Given the description of an element on the screen output the (x, y) to click on. 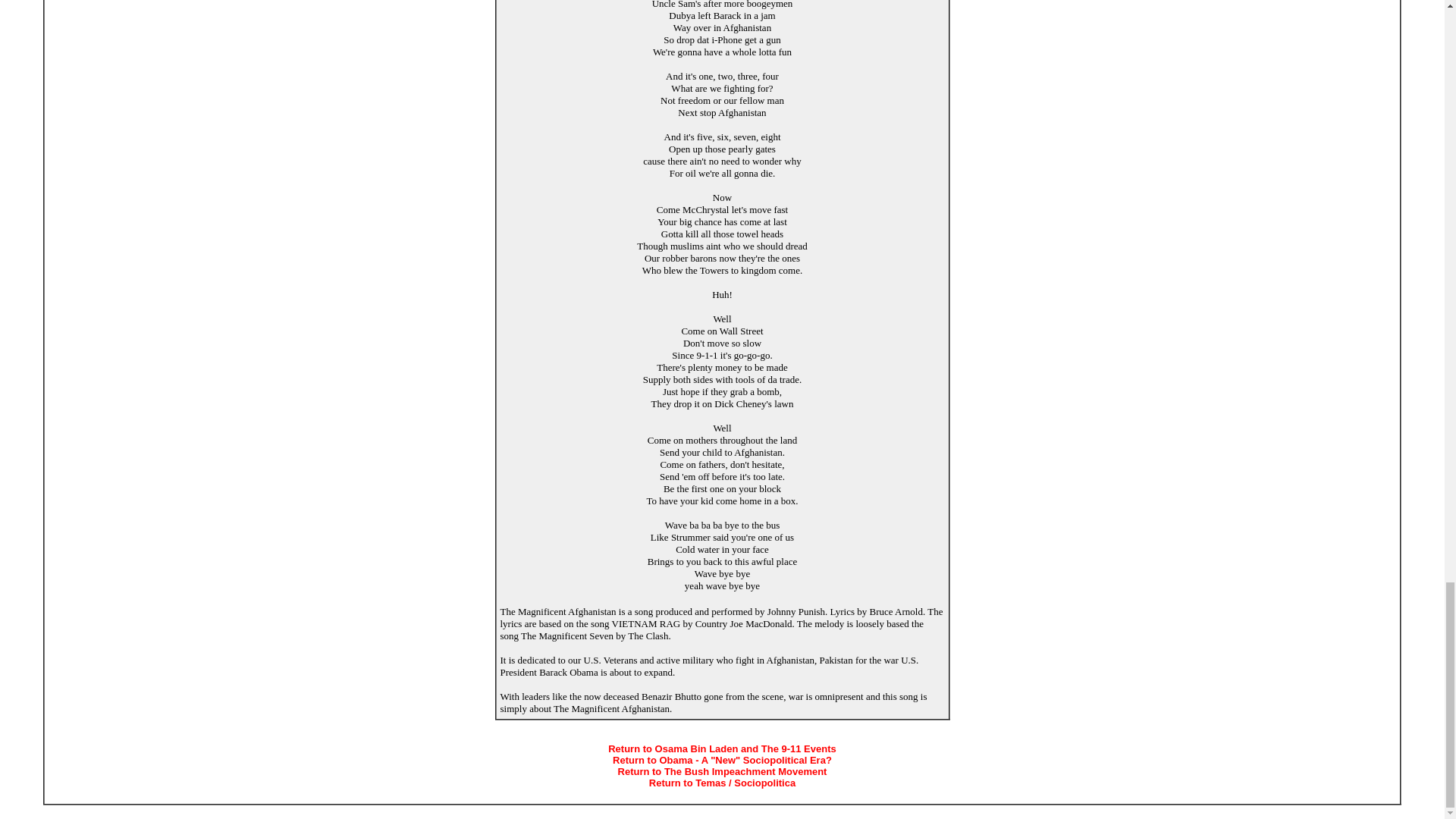
Return to Osama Bin Laden and The 9-11 Events (721, 748)
Return to The Bush Impeachment Movement (722, 771)
Return to Obama - A "New" Sociopolitical Era? (721, 759)
